Given the description of an element on the screen output the (x, y) to click on. 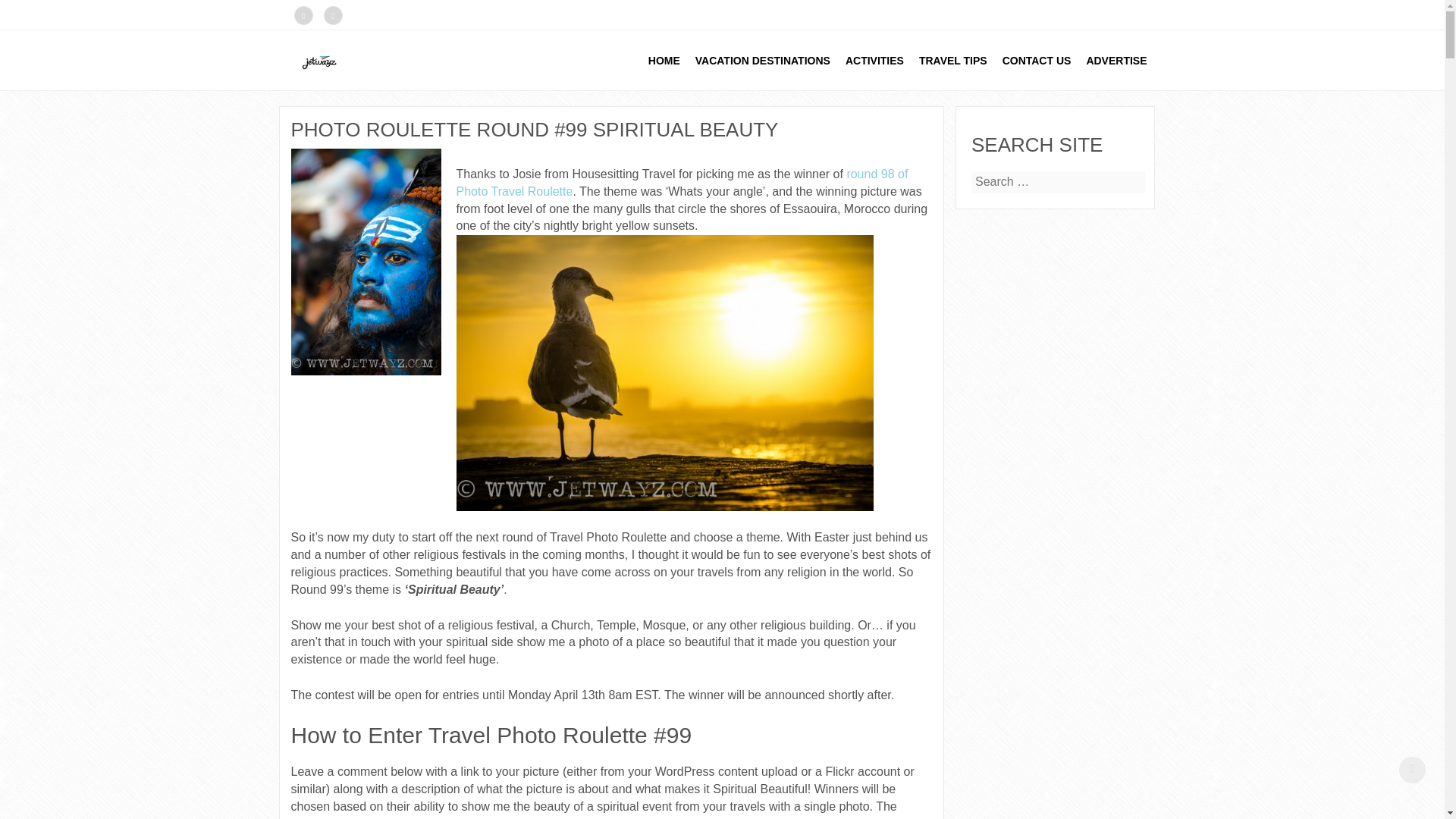
CONTACT US (1036, 60)
VACATION DESTINATIONS (762, 60)
ACTIVITIES (874, 60)
ADVERTISE (1116, 60)
TRAVEL TIPS (952, 60)
Round 98 (682, 182)
Photo-roulette-jetwayz (665, 373)
round 98 of Photo Travel Roulette (682, 182)
